Given the description of an element on the screen output the (x, y) to click on. 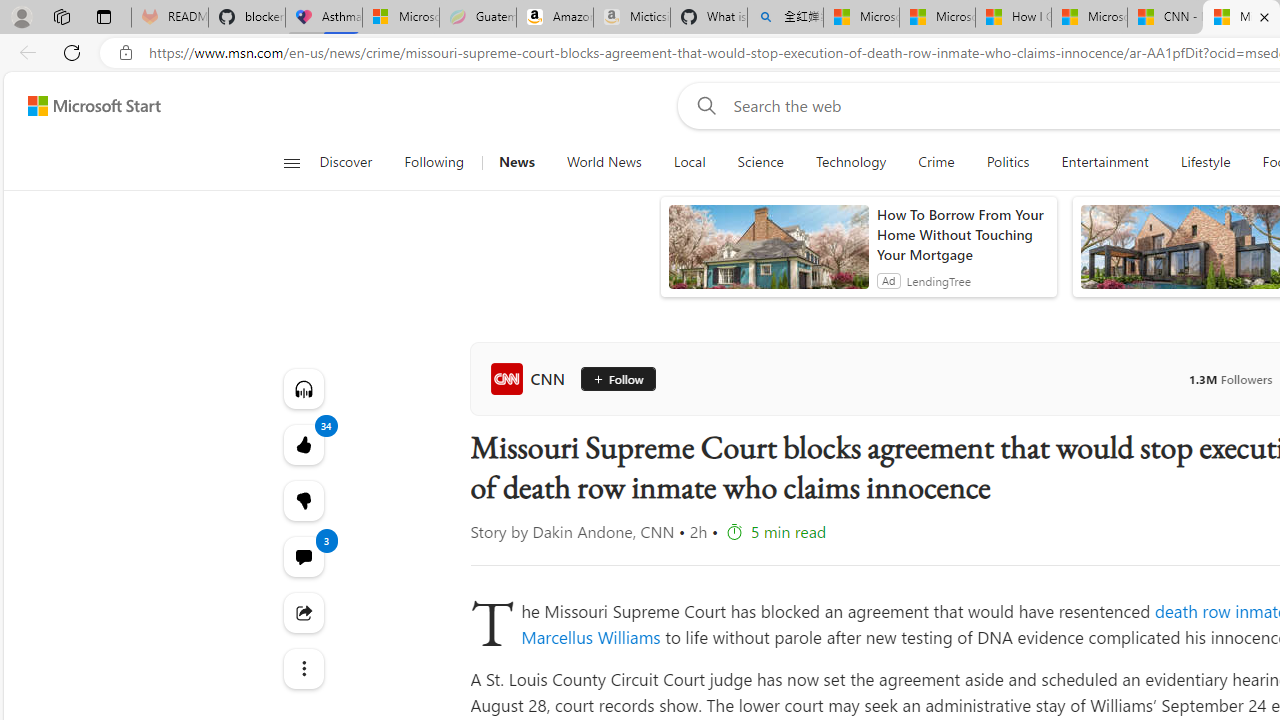
anim-content (768, 255)
View comments 3 Comment (302, 556)
